Given the description of an element on the screen output the (x, y) to click on. 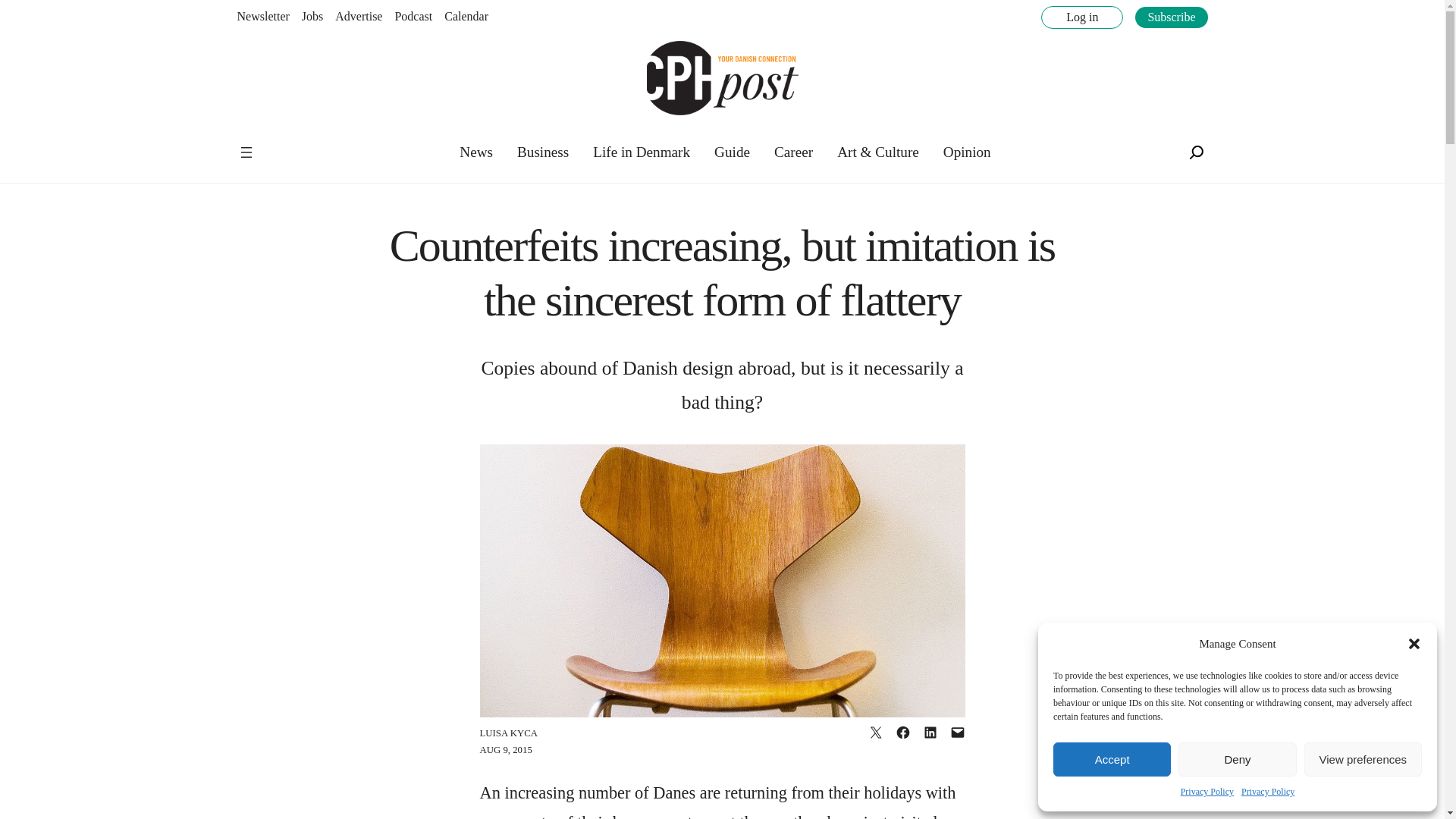
Privacy Policy (1267, 791)
Privacy Policy (1206, 791)
The Copenhagen Post (284, 143)
Accept (1111, 759)
Deny (1236, 759)
View preferences (1363, 759)
